Given the description of an element on the screen output the (x, y) to click on. 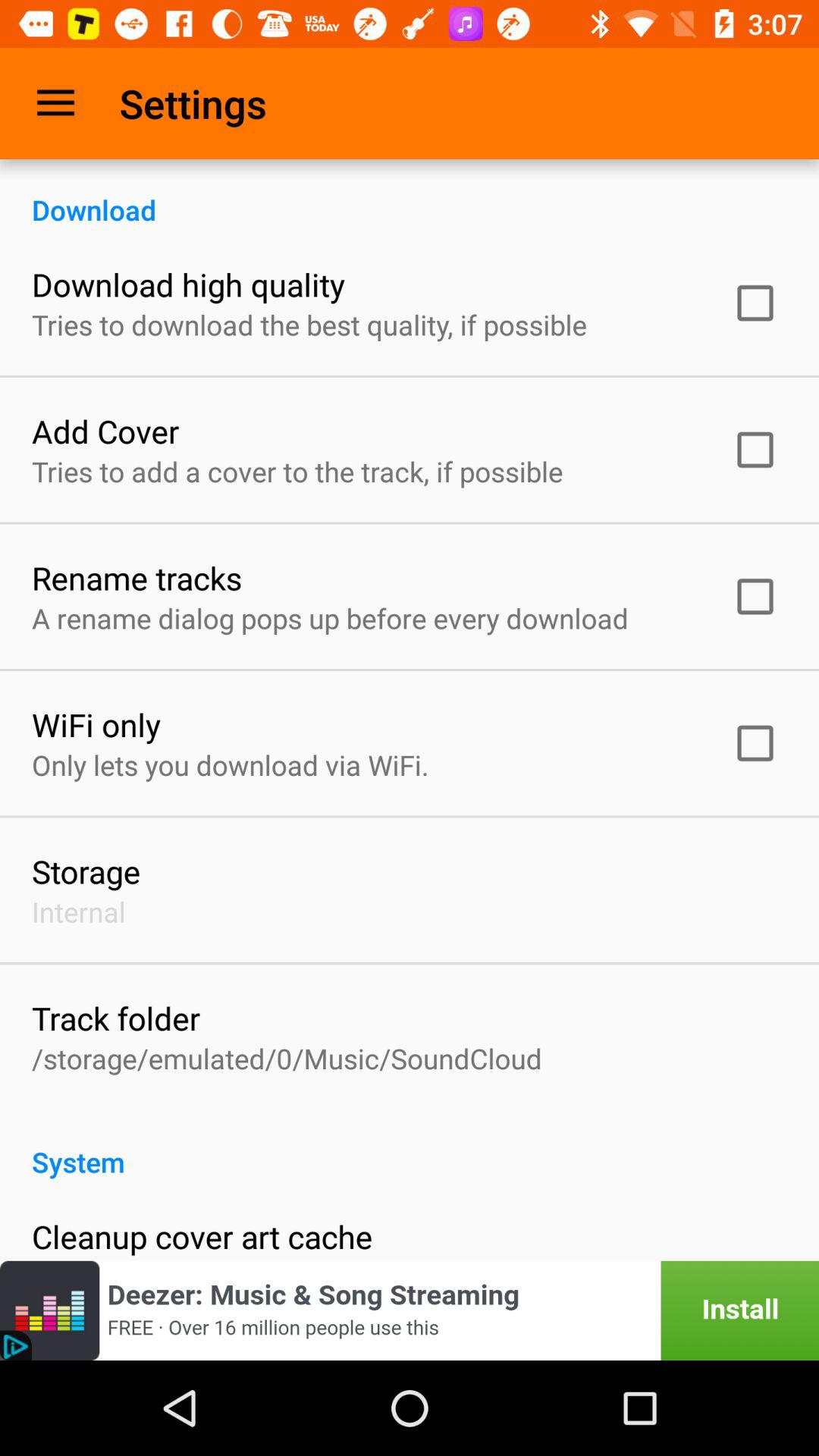
flip until the storage emulated 0 item (286, 1058)
